Given the description of an element on the screen output the (x, y) to click on. 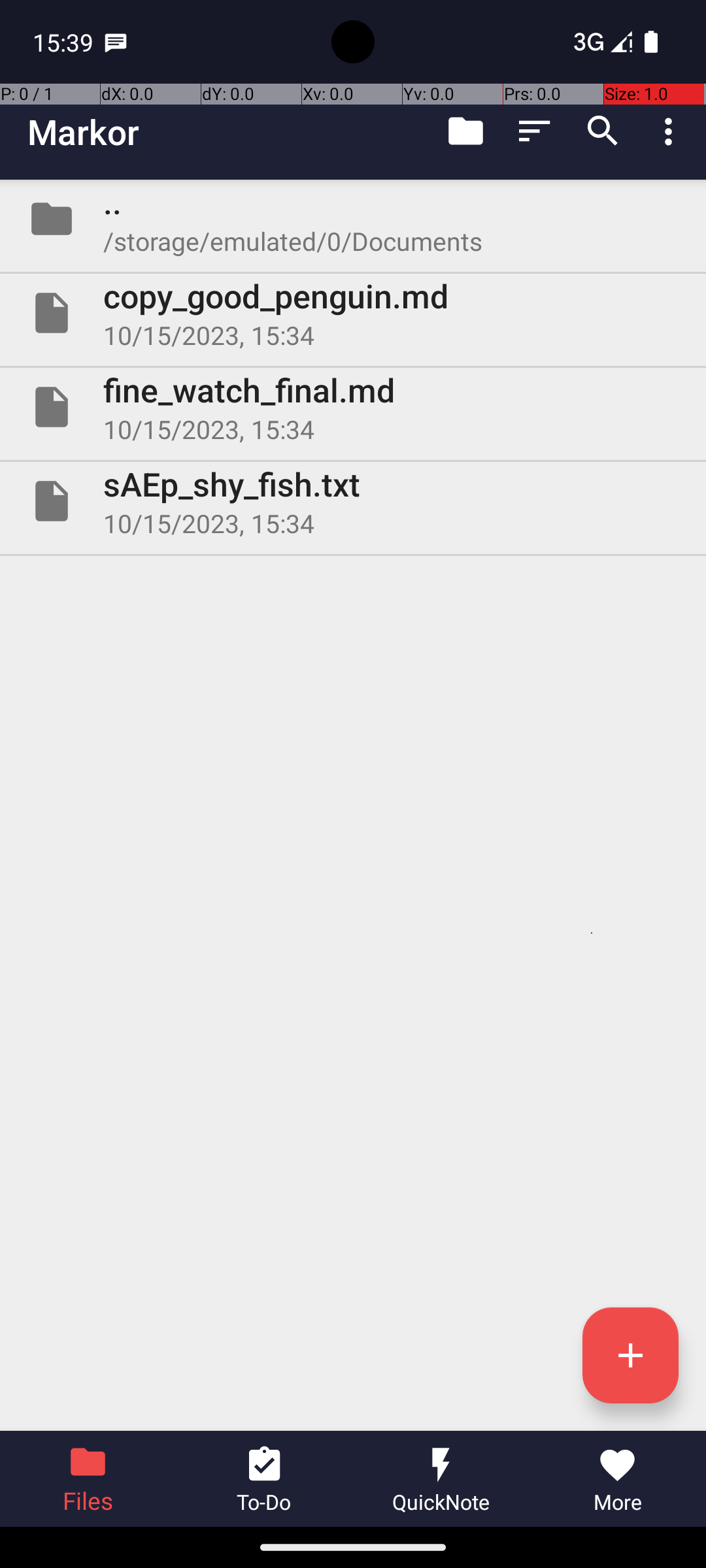
File copy_good_penguin.md  Element type: android.widget.LinearLayout (353, 312)
File fine_watch_final.md  Element type: android.widget.LinearLayout (353, 406)
File sAEp_shy_fish.txt  Element type: android.widget.LinearLayout (353, 500)
15:39 Element type: android.widget.TextView (64, 41)
